Given the description of an element on the screen output the (x, y) to click on. 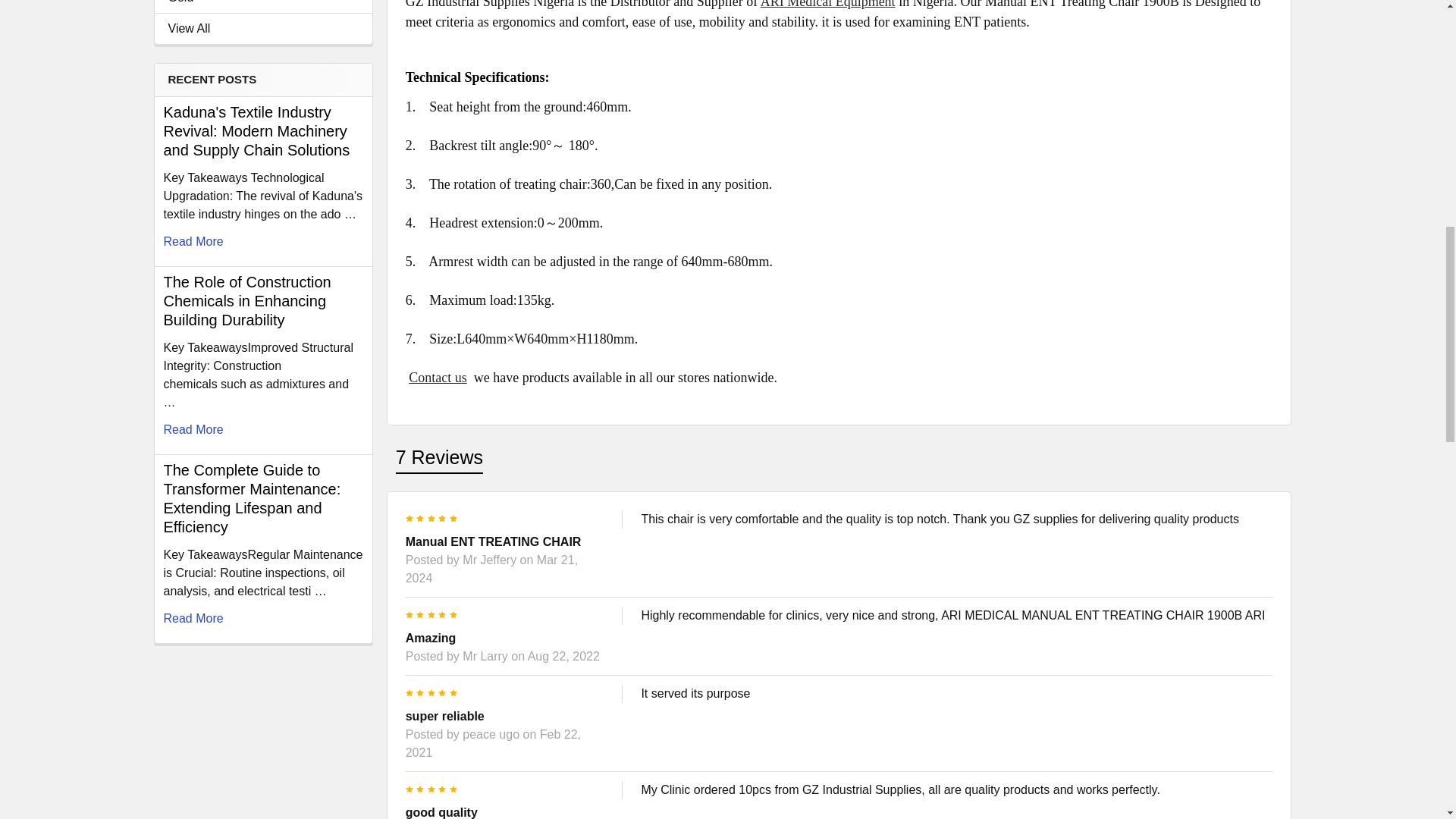
ARI Medical Equipment  (827, 4)
Gold (263, 3)
Contact us (438, 377)
